Given the description of an element on the screen output the (x, y) to click on. 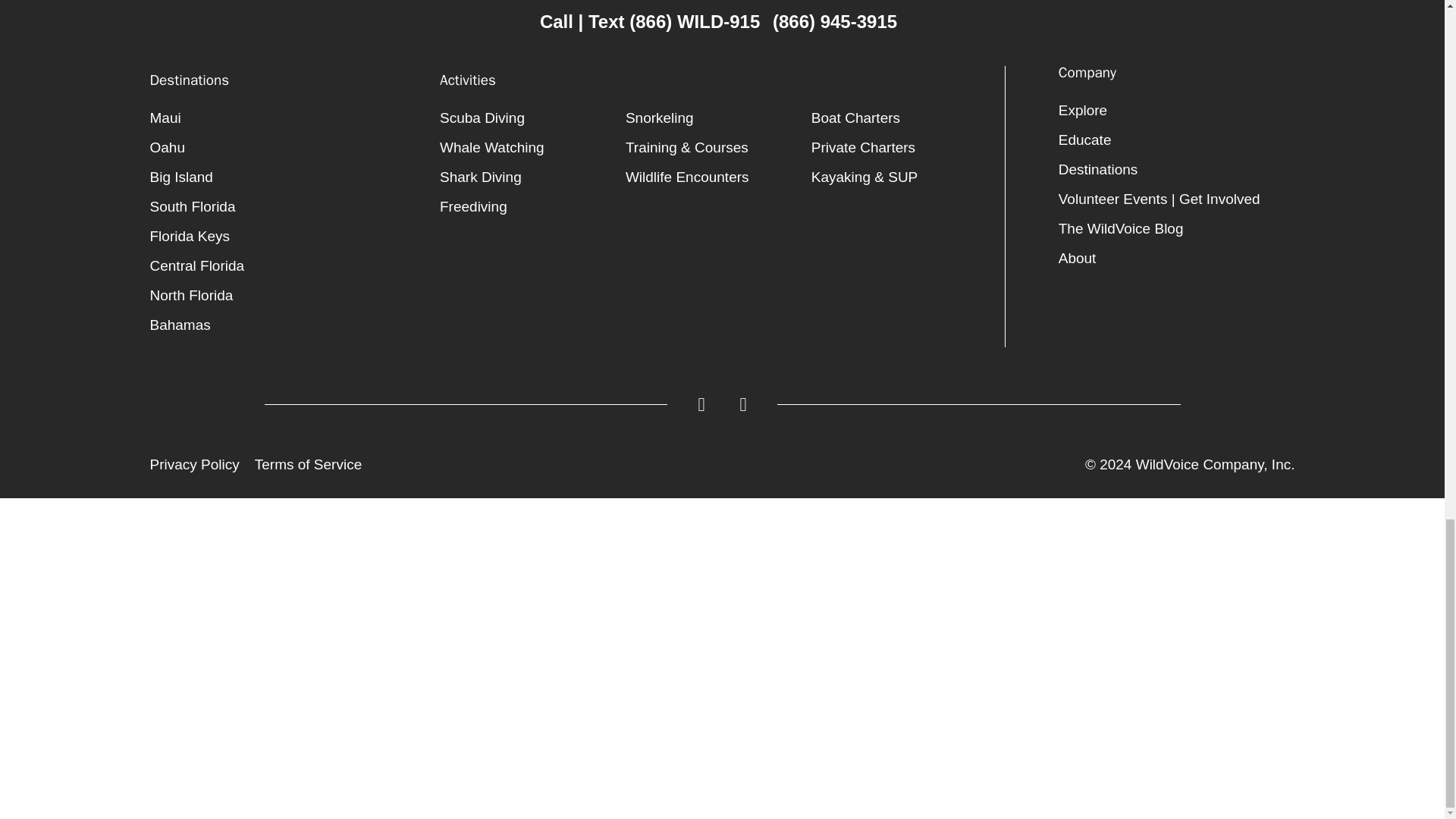
Big Island (287, 176)
Explore (1176, 110)
Privacy Policy (194, 464)
Private Charters (903, 147)
Destinations (1176, 169)
Boat Charters (903, 117)
Shark Diving (532, 176)
The WildVoice Blog (1176, 228)
Bahamas (287, 324)
South Florida (287, 206)
Snorkeling (718, 117)
Educate (1176, 139)
Central Florida (287, 265)
North Florida (287, 295)
Scuba Diving (532, 117)
